Given the description of an element on the screen output the (x, y) to click on. 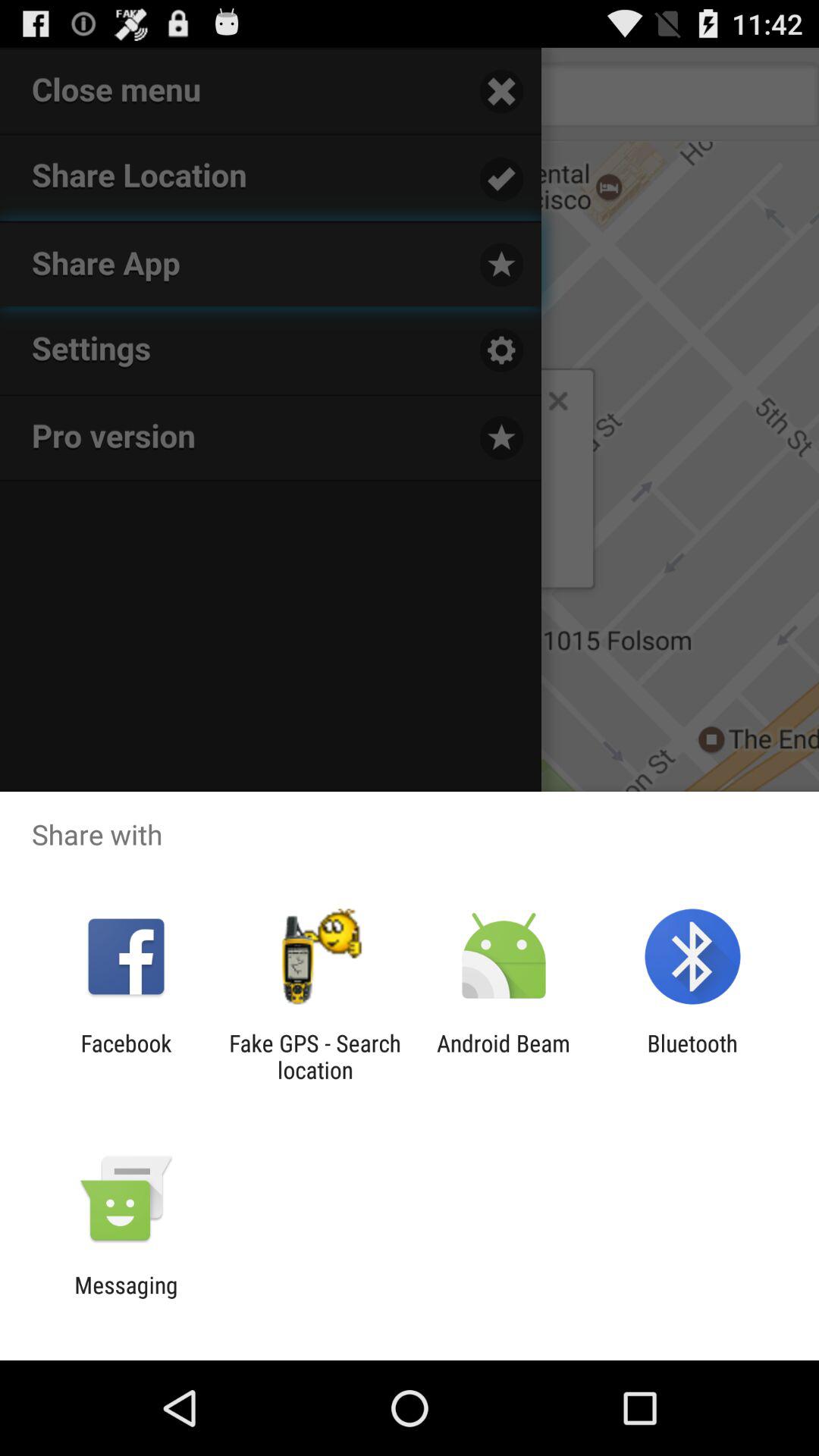
launch fake gps search icon (314, 1056)
